Given the description of an element on the screen output the (x, y) to click on. 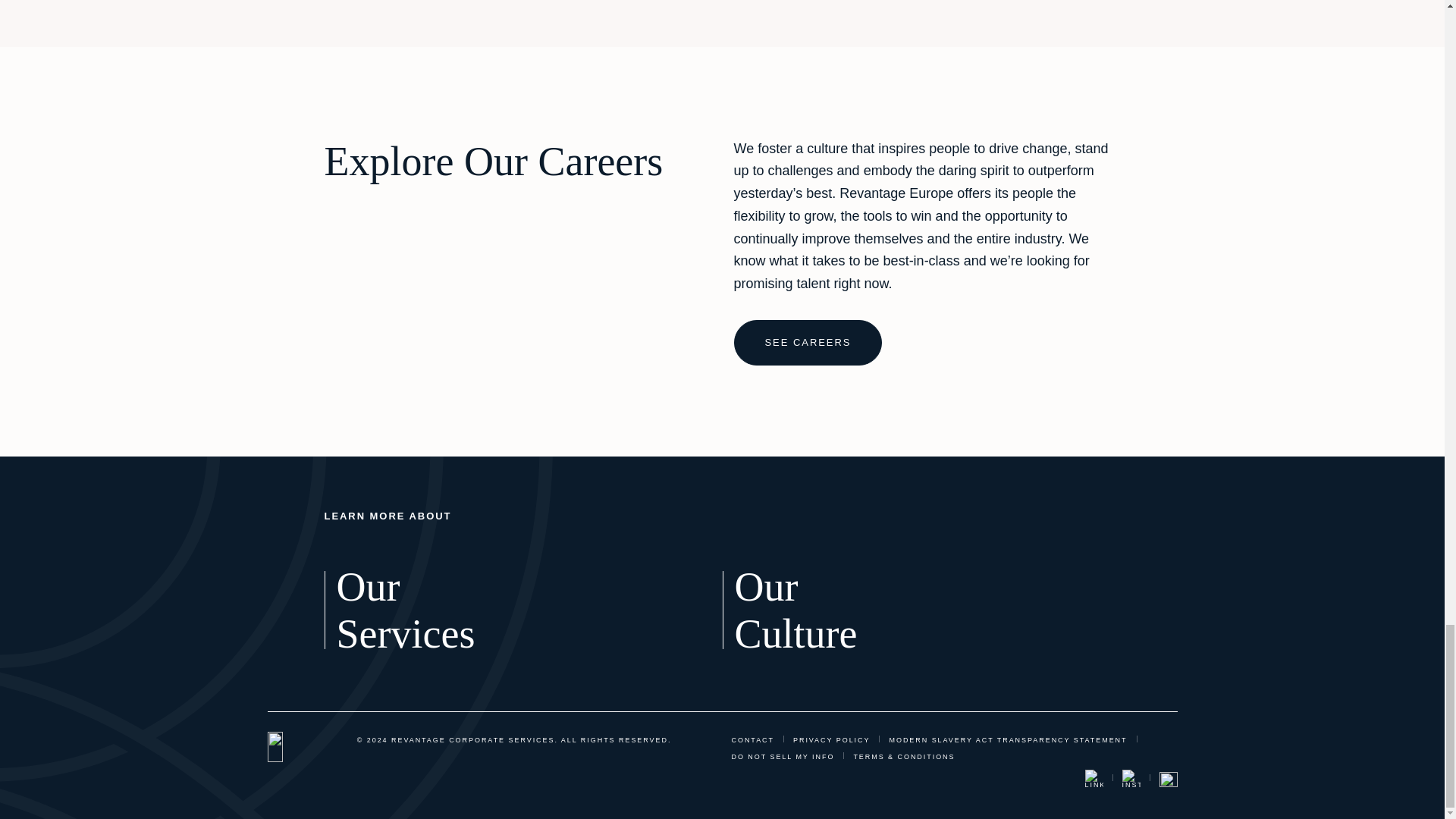
MODERN SLAVERY ACT TRANSPARENCY STATEMENT (1007, 740)
PRIVACY POLICY (831, 740)
INSTAGRAM (1131, 778)
SEE CAREERS (807, 342)
DO NOT SELL MY INFO (782, 756)
CONTACT (789, 610)
YOUTUBE (752, 740)
LINKEDIN (1168, 780)
